Given the description of an element on the screen output the (x, y) to click on. 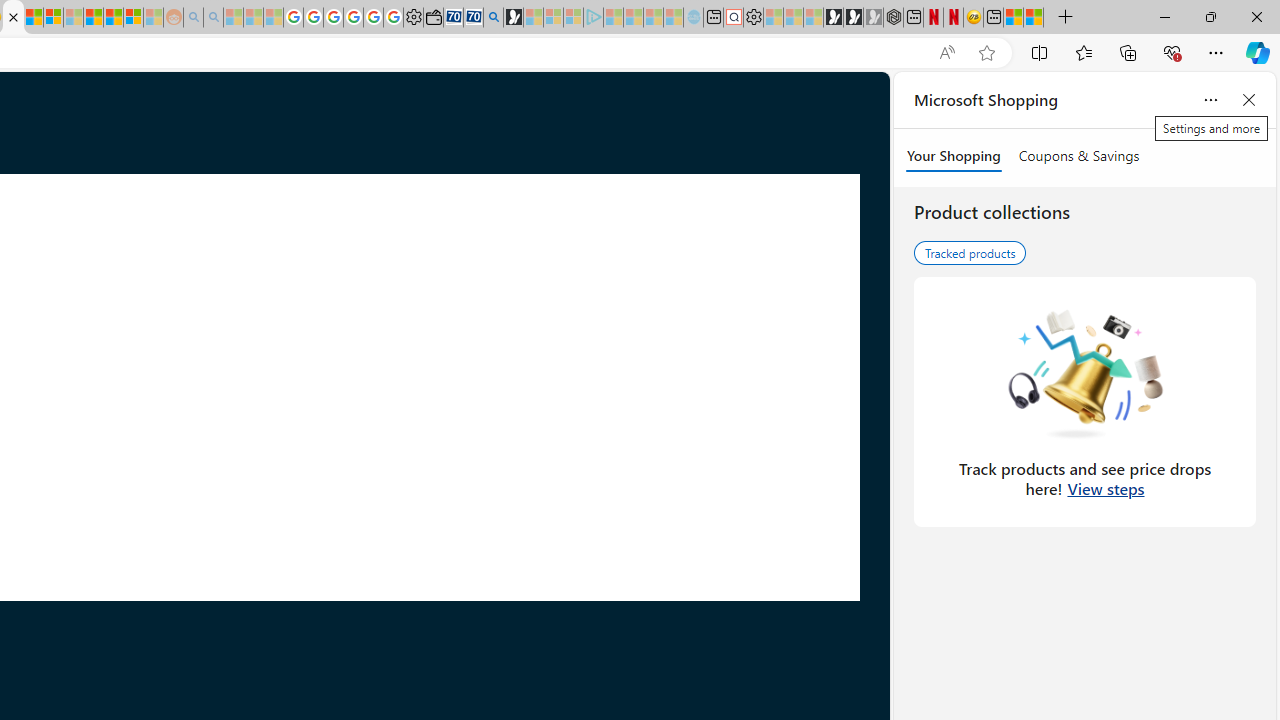
Cheap Car Rentals - Save70.com (472, 17)
Nordace - Nordace Siena Is Not An Ordinary Backpack (893, 17)
Kinda Frugal - MSN (112, 17)
Bing Real Estate - Home sales and rental listings (493, 17)
Play Free Online Games | Games from Microsoft Start (833, 17)
